Given the description of an element on the screen output the (x, y) to click on. 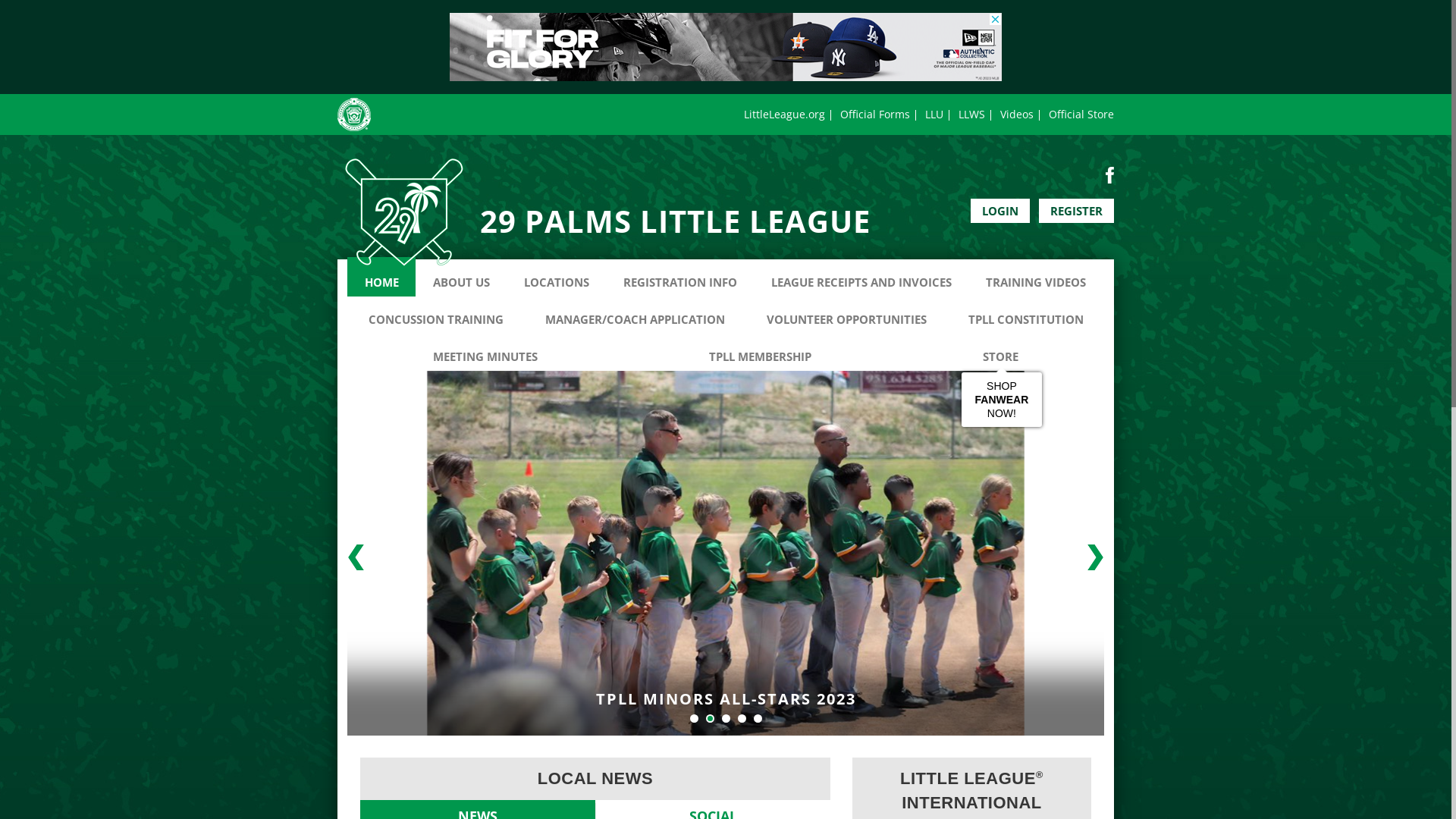
Official Forms Element type: text (875, 113)
4 Element type: text (741, 718)
2 Element type: text (709, 718)
TRAINING VIDEOS Element type: text (1035, 276)
MEETING MINUTES Element type: text (485, 350)
3rd party ad content Element type: hover (725, 46)
LLWS Element type: text (971, 113)
1 Element type: text (694, 718)
VOLUNTEER OPPORTUNITIES Element type: text (846, 313)
LOGIN Element type: text (999, 210)
> Element type: text (1094, 557)
TPLL MEMBERSHIP Element type: text (760, 350)
MANAGER/COACH APPLICATION Element type: text (634, 313)
LOCATIONS Element type: text (555, 276)
LEAGUE RECEIPTS AND INVOICES Element type: text (860, 276)
5 Element type: text (757, 718)
Official Store Element type: text (1080, 113)
LLU Element type: text (934, 113)
CONCUSSION TRAINING Element type: text (435, 313)
Videos Element type: text (1016, 113)
3 Element type: text (725, 718)
HOME Element type: text (381, 276)
< Element type: text (355, 557)
Twentynine Palms Little League Element type: hover (403, 212)
TPLL CONSTITUTION Element type: text (1025, 313)
Facebook Element type: text (1109, 174)
STORE Element type: text (1000, 350)
REGISTER Element type: text (1075, 210)
LittleLeague.org Element type: text (784, 113)
